Given the description of an element on the screen output the (x, y) to click on. 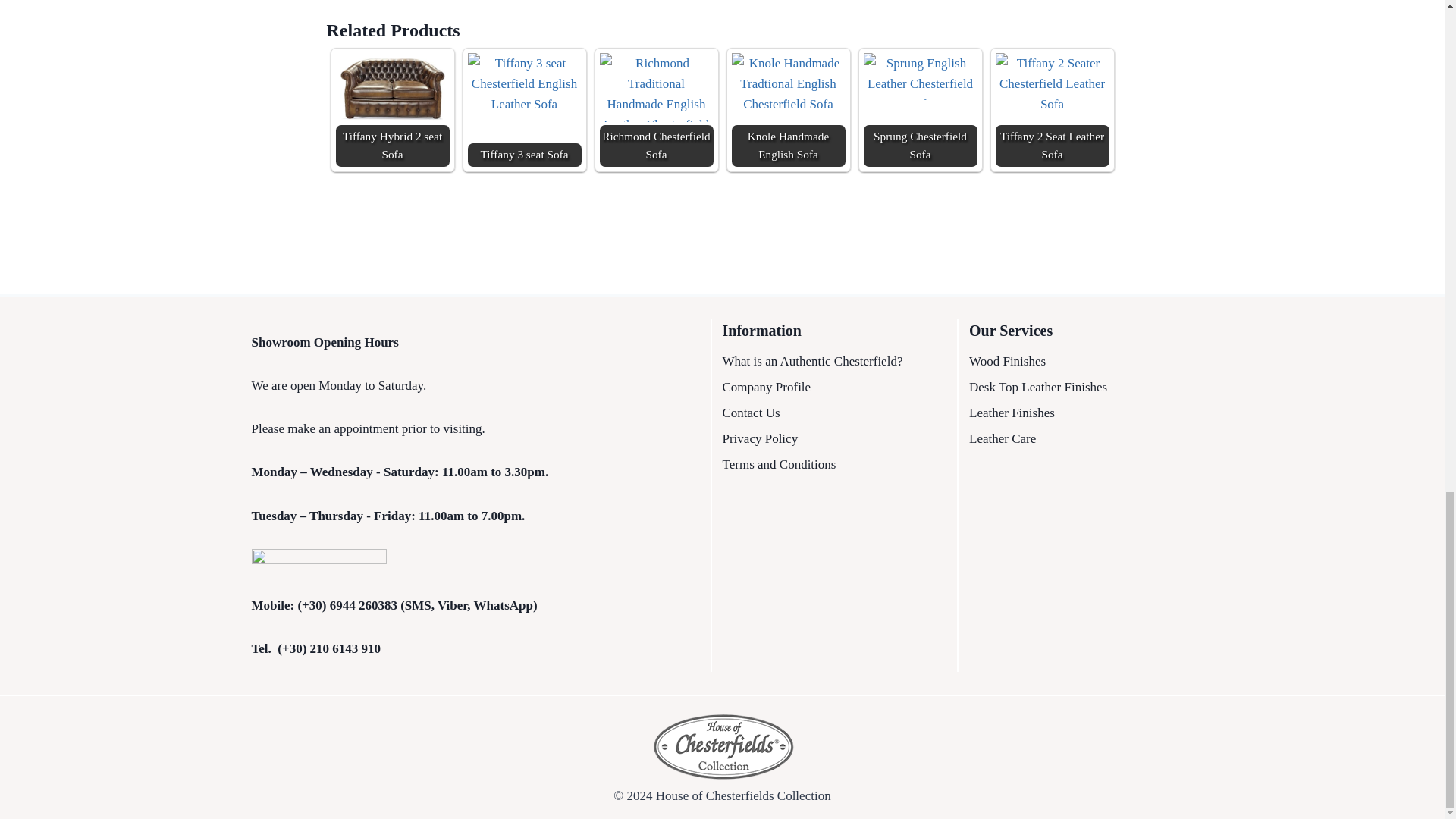
Tiffany Hybrid 2 seat Sofa (391, 110)
Richmond Chesterfield Sofa (655, 110)
Knole Handmade English Sofa (787, 83)
Knole Handmade English Sofa (787, 110)
Richmond Chesterfield Sofa (655, 87)
Tiffany 3 seat Sofa (523, 93)
Tiffany Hybrid 2 seat Sofa (391, 89)
Tiffany 3 seat Sofa (523, 110)
Sprung Chesterfield Sofa (919, 76)
Sprung Chesterfield Sofa (919, 110)
Tiffany 2 Seat Leather Sofa (1051, 90)
